Given the description of an element on the screen output the (x, y) to click on. 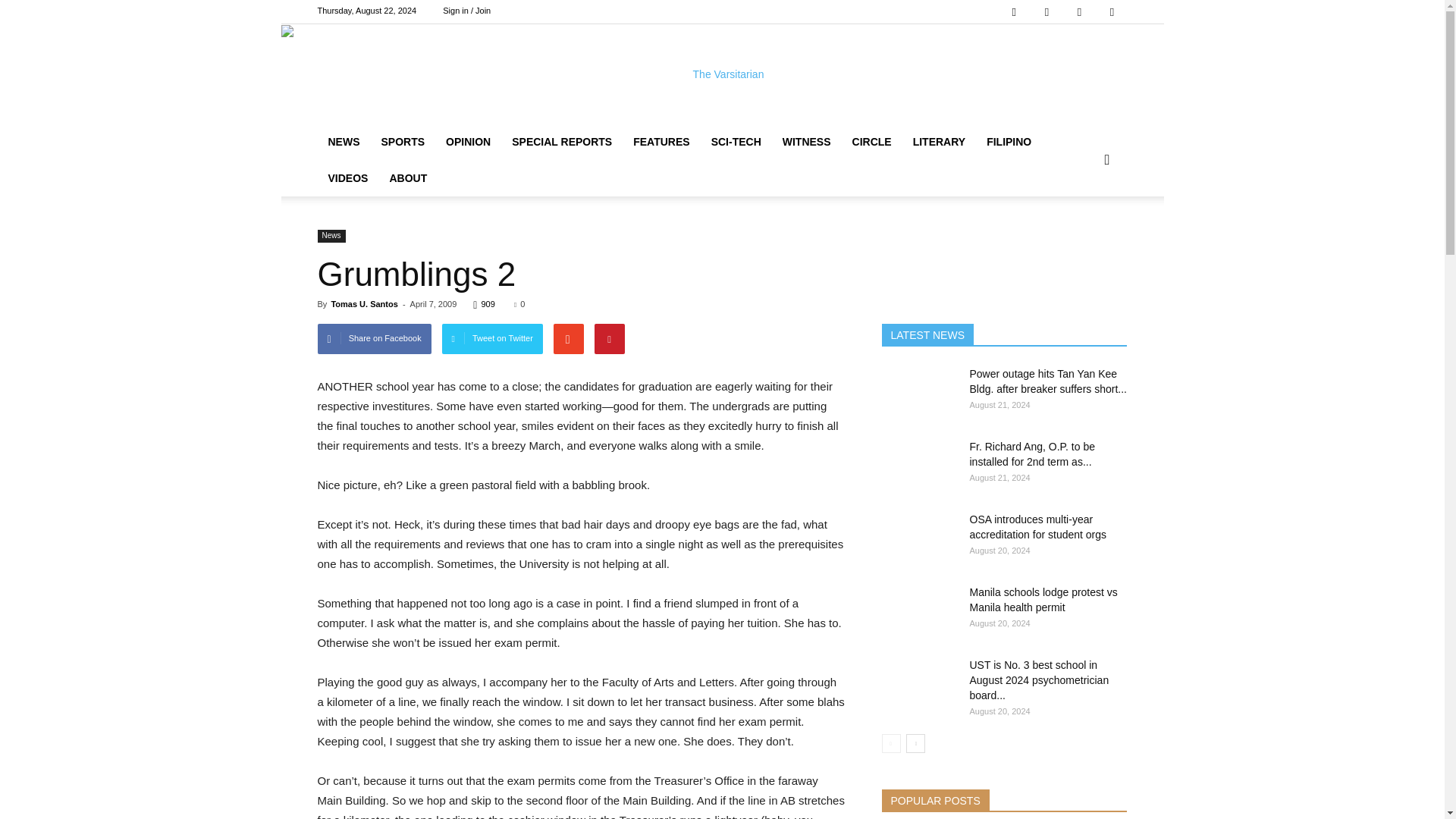
Twitter (1079, 11)
NEWS (343, 141)
SPORTS (402, 141)
Youtube (1111, 11)
OPINION (467, 141)
The Varsitarian (722, 74)
Instagram (1045, 11)
Facebook (1013, 11)
